Given the description of an element on the screen output the (x, y) to click on. 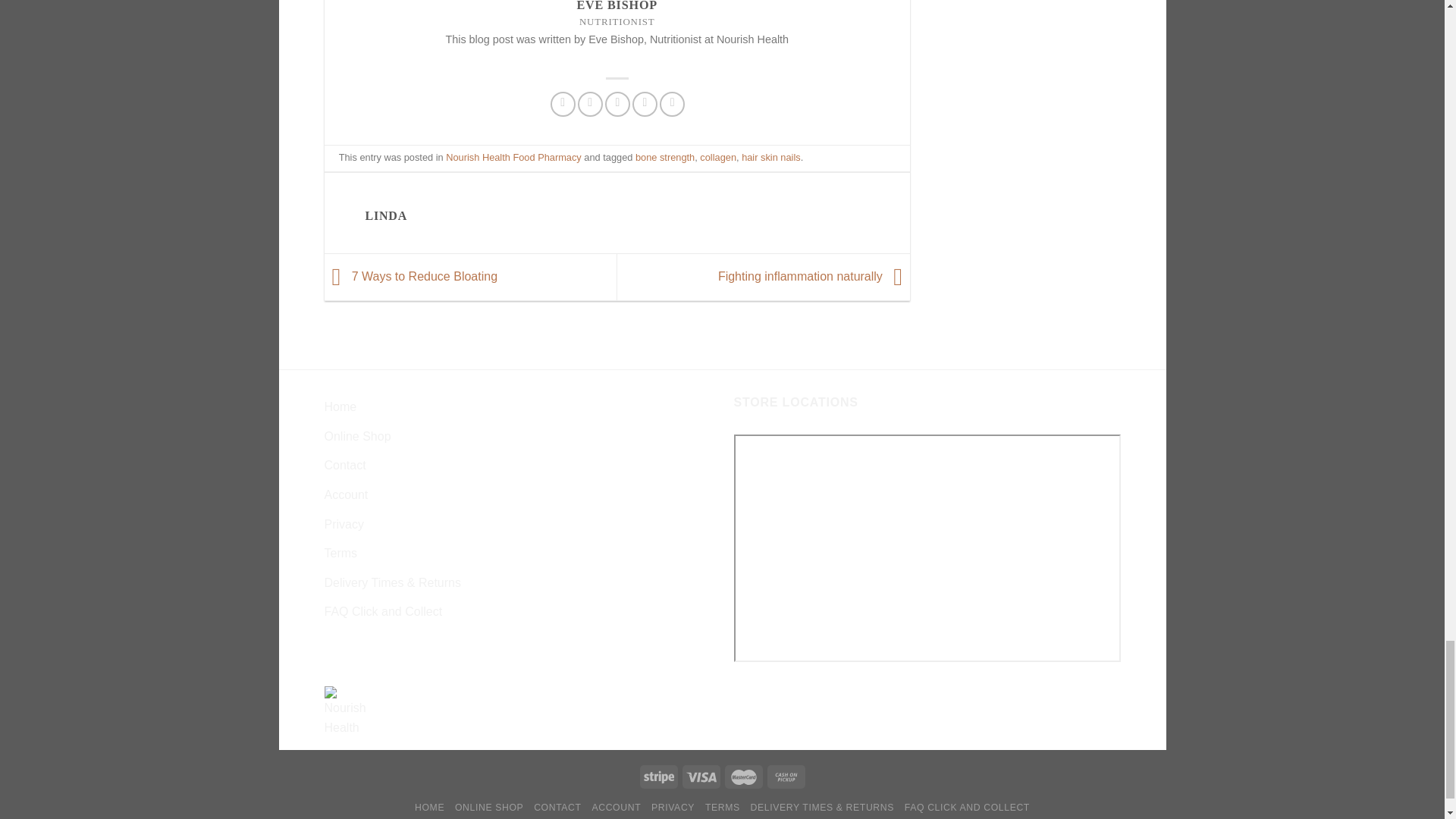
Pin on Pinterest (644, 104)
Email to a Friend (617, 104)
Share on Twitter (590, 104)
Share on Facebook (562, 104)
Share on LinkedIn (671, 104)
